Given the description of an element on the screen output the (x, y) to click on. 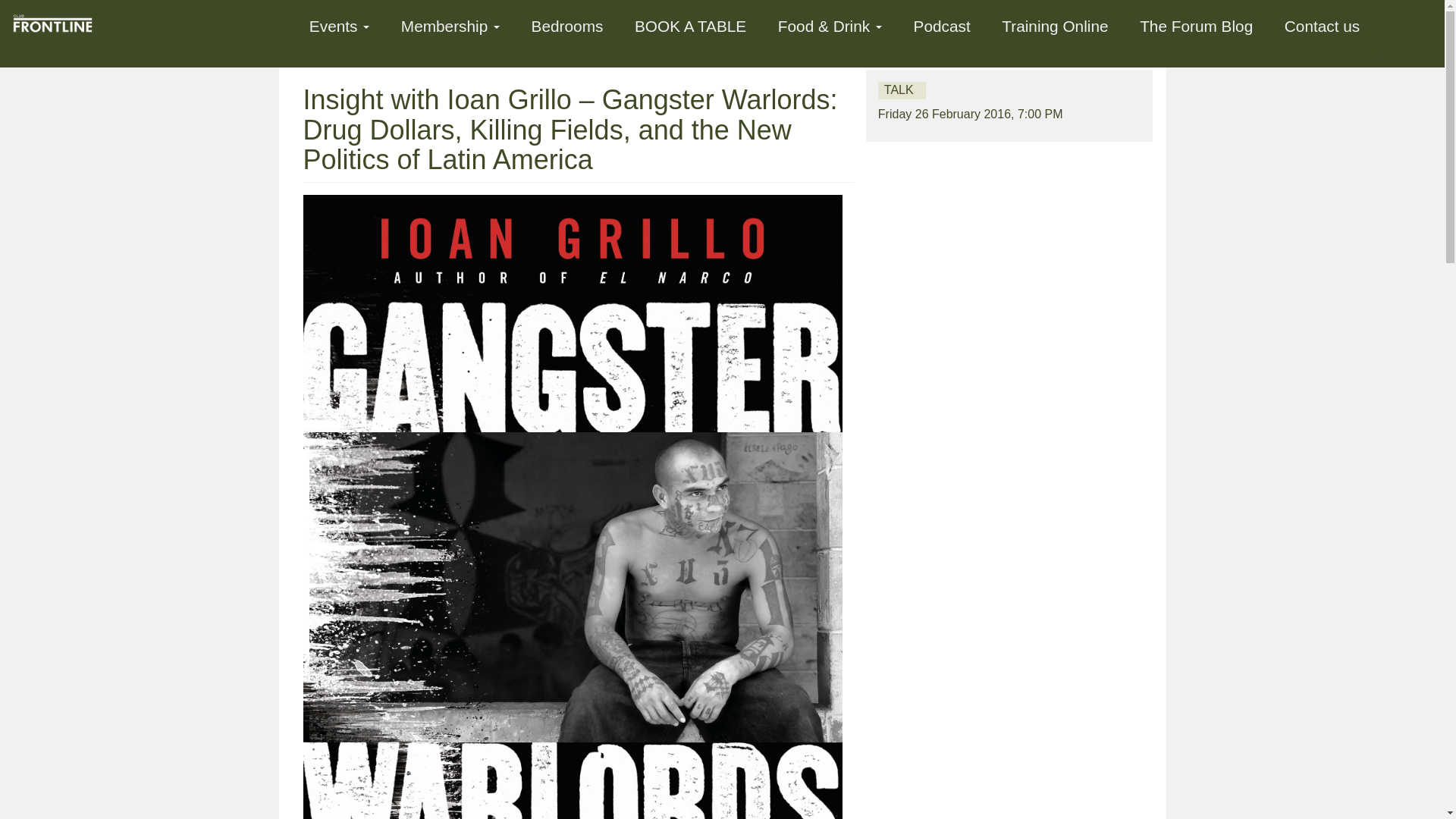
Membership (450, 24)
BOOK A TABLE (689, 24)
The Forum Blog (1196, 24)
Events (339, 24)
Membership (450, 24)
Podcast (942, 24)
BOOK A TABLE (689, 24)
Contact us (1321, 24)
Bedrooms (566, 24)
Events (339, 24)
Bedrooms (566, 24)
Training Online (1054, 24)
Frontline Club Home (57, 20)
